Given the description of an element on the screen output the (x, y) to click on. 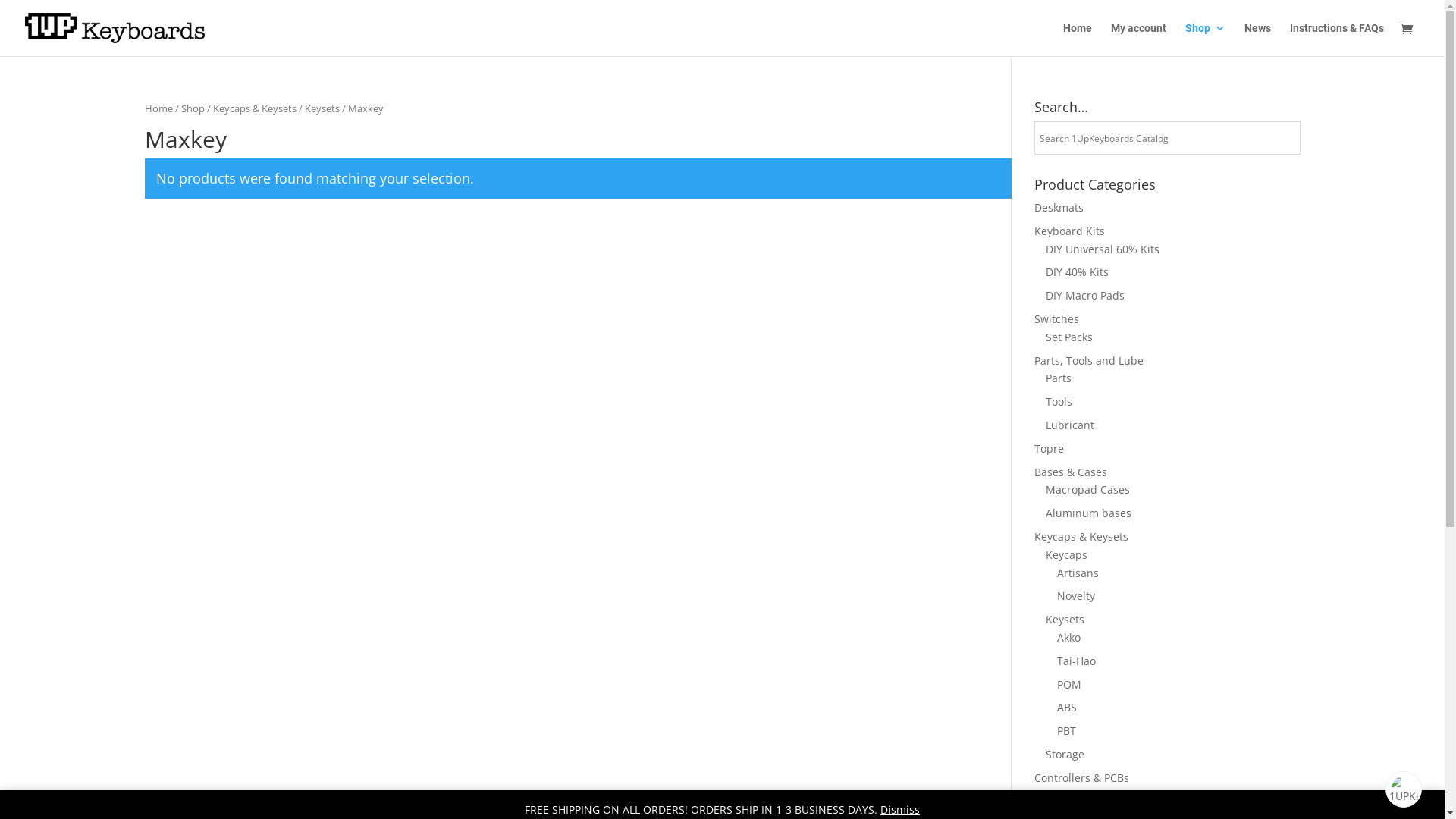
Switches Element type: text (1056, 318)
Shop Element type: text (1205, 39)
Deskmats Element type: text (1058, 207)
DIY Macro Pads Element type: text (1083, 295)
POM Element type: text (1069, 684)
Storage Element type: text (1063, 753)
Home Element type: text (1077, 39)
Keysets Element type: text (321, 108)
Controllers & PCBs Element type: text (1081, 777)
Keycaps Element type: text (1065, 554)
Bases & Cases Element type: text (1070, 471)
Novelty Element type: text (1076, 595)
PBT Element type: text (1066, 730)
Keyboard Kits Element type: text (1069, 230)
Parts Element type: text (1057, 377)
News Element type: text (1257, 39)
Shop Element type: text (191, 108)
Home Element type: text (158, 108)
Keysets Element type: text (1063, 618)
Keycaps & Keysets Element type: text (1081, 536)
Keycaps & Keysets Element type: text (253, 108)
Lubricant Element type: text (1068, 424)
Parts, Tools and Lube Element type: text (1088, 360)
Artisans Element type: text (1077, 572)
Topre Element type: text (1048, 448)
Set Packs Element type: text (1068, 336)
Akko Element type: text (1068, 637)
Aluminum bases Element type: text (1087, 512)
DIY 40% Kits Element type: text (1075, 271)
ABS Element type: text (1066, 706)
Instructions & FAQs Element type: text (1336, 39)
My account Element type: text (1138, 39)
USB cables Element type: text (1062, 800)
Dismiss Element type: text (899, 809)
Tai-Hao Element type: text (1076, 660)
DIY Universal 60% Kits Element type: text (1101, 248)
Macropad Cases Element type: text (1086, 489)
Tools Element type: text (1057, 401)
